Given the description of an element on the screen output the (x, y) to click on. 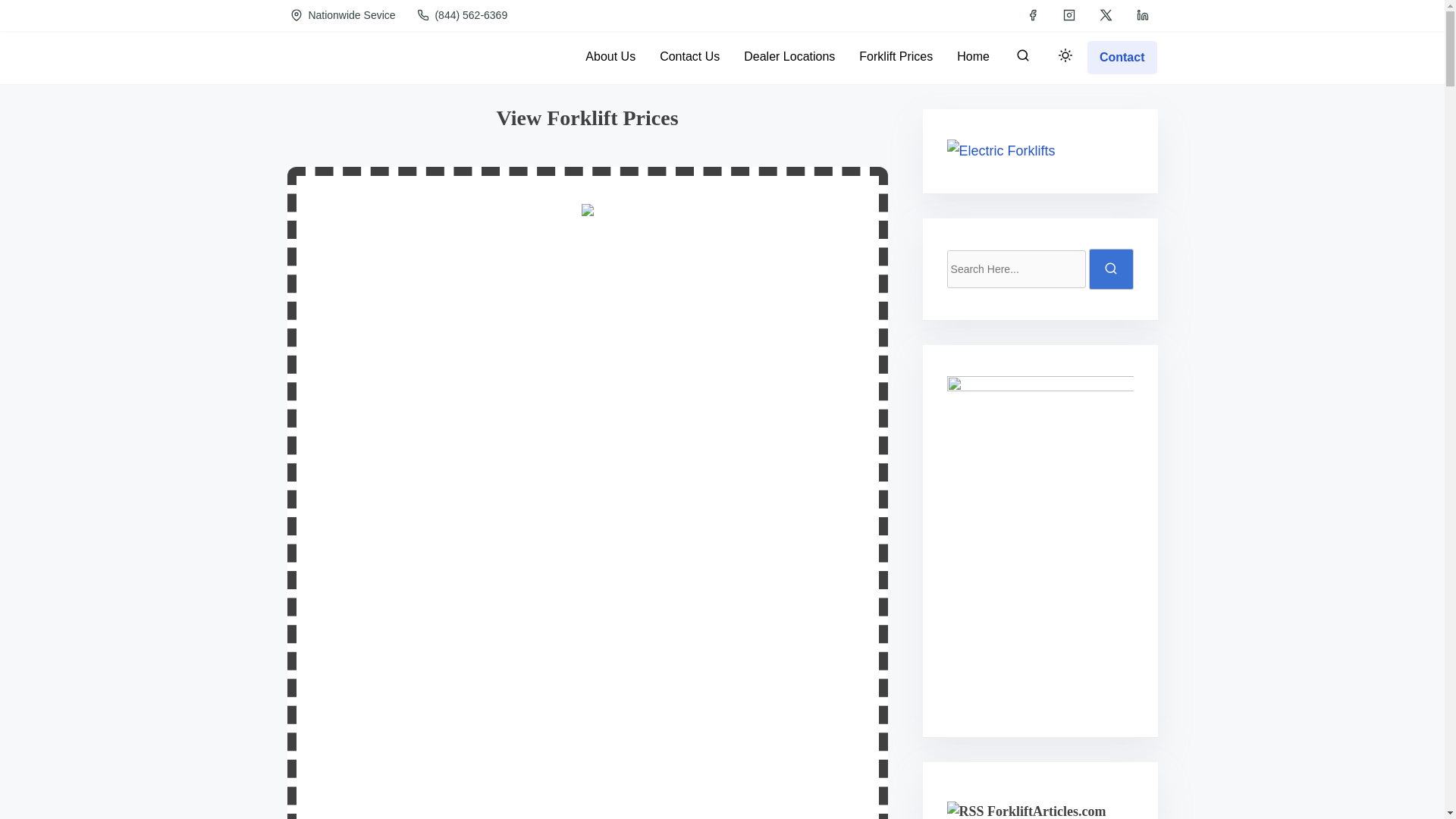
About Us (610, 56)
Dealer Locations (789, 56)
Contact Us (689, 56)
 Nationwide Sevice (343, 15)
Forklift Prices (895, 56)
Contact (1121, 56)
Home (972, 56)
